Given the description of an element on the screen output the (x, y) to click on. 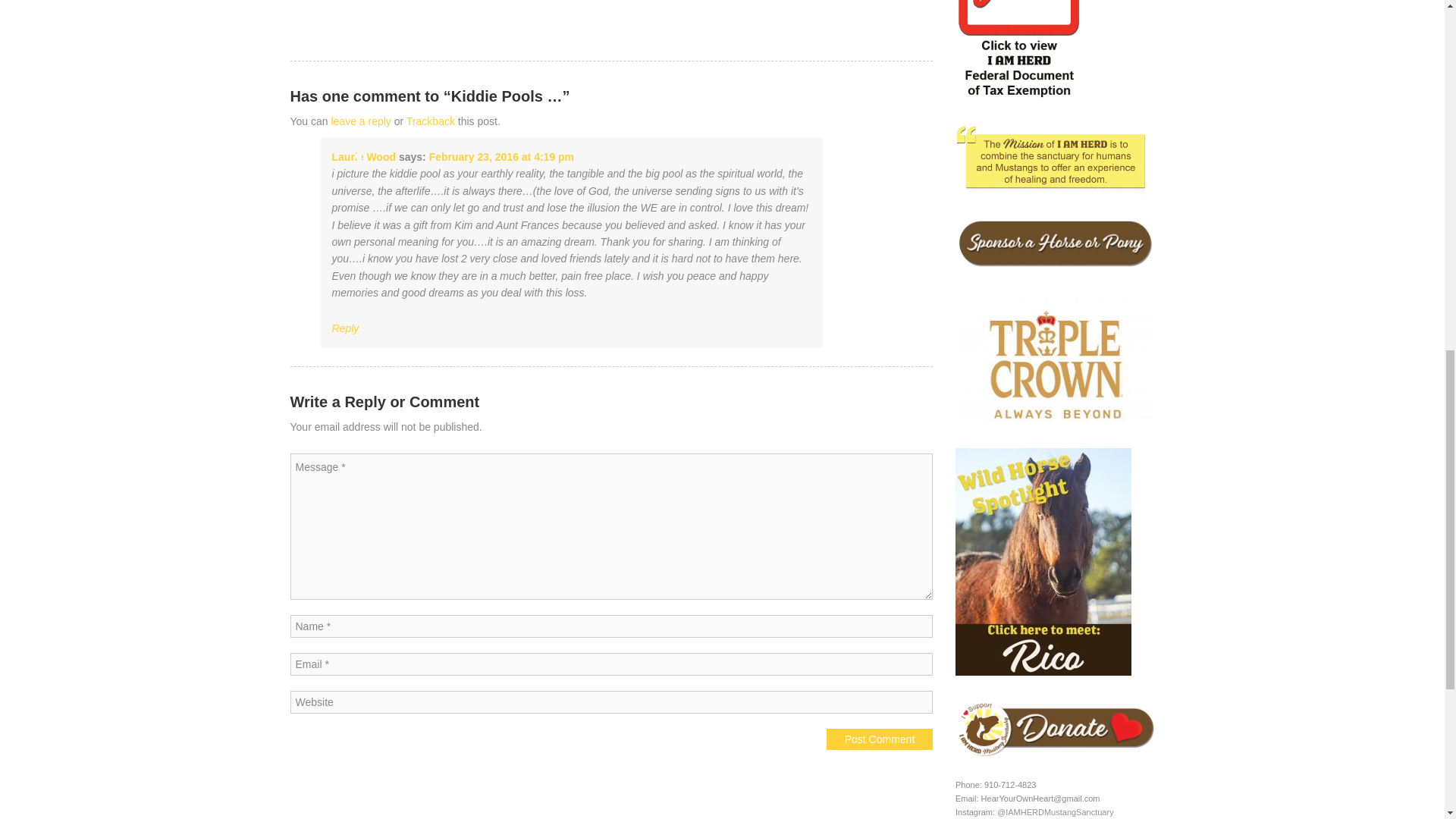
Website (611, 702)
Post Comment (880, 739)
Trackback (430, 121)
leave a reply (360, 121)
